Given the description of an element on the screen output the (x, y) to click on. 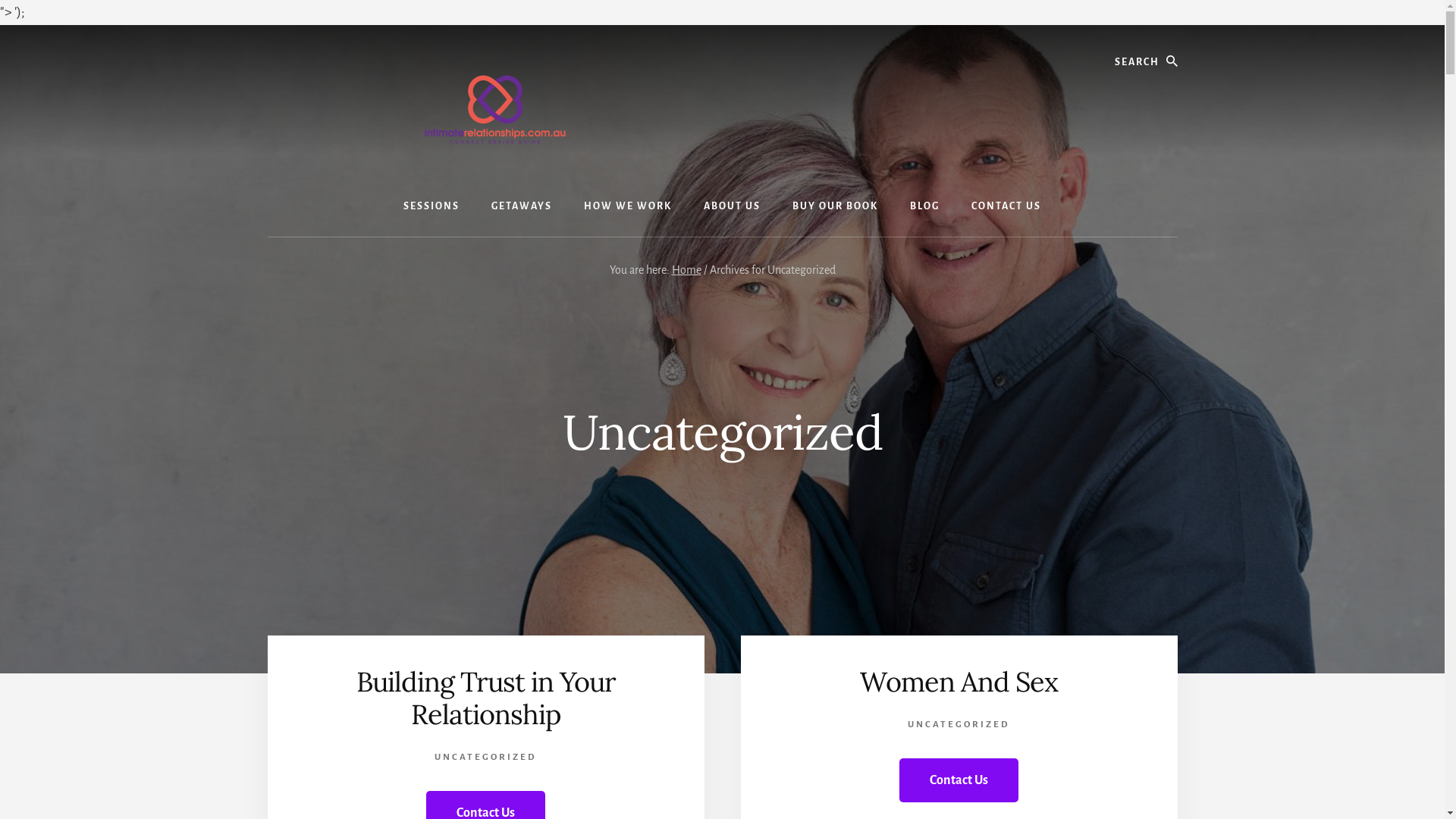
UNCATEGORIZED Element type: text (485, 757)
BLOG Element type: text (924, 205)
Contact Us Element type: text (958, 780)
Women And Sex Element type: text (958, 681)
Home Element type: text (686, 269)
BUY OUR BOOK Element type: text (835, 205)
SESSIONS Element type: text (431, 205)
UNCATEGORIZED Element type: text (958, 724)
Search Element type: text (1176, 39)
GETAWAYS Element type: text (521, 205)
Building Trust in Your Relationship Element type: text (485, 697)
CONTACT US Element type: text (1006, 205)
Skip to content Element type: text (0, 24)
HOW WE WORK Element type: text (627, 205)
ABOUT US Element type: text (731, 205)
